Given the description of an element on the screen output the (x, y) to click on. 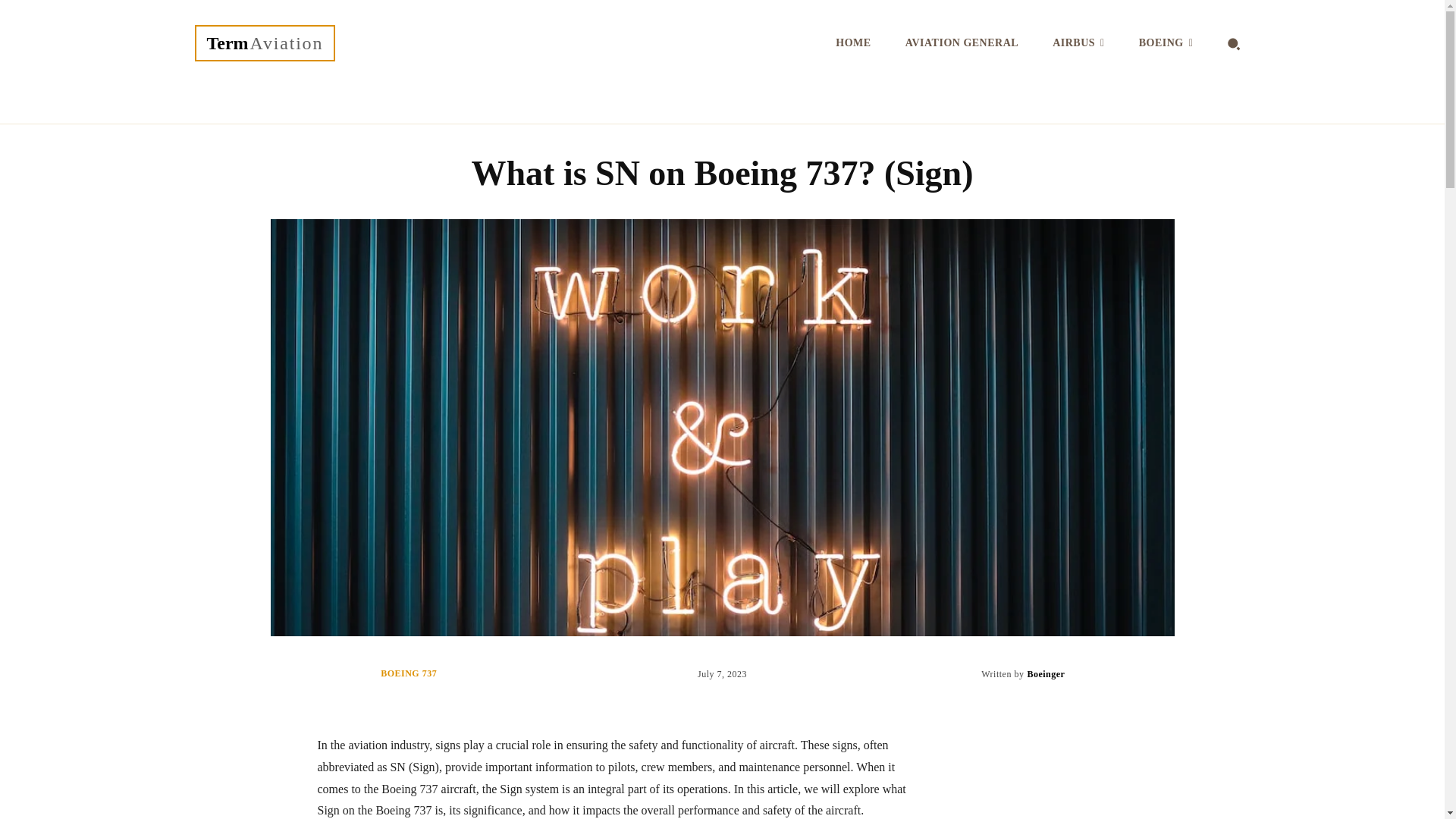
Boeinger (1045, 673)
AVIATION GENERAL (961, 43)
BOEING 737 (408, 673)
